Given the description of an element on the screen output the (x, y) to click on. 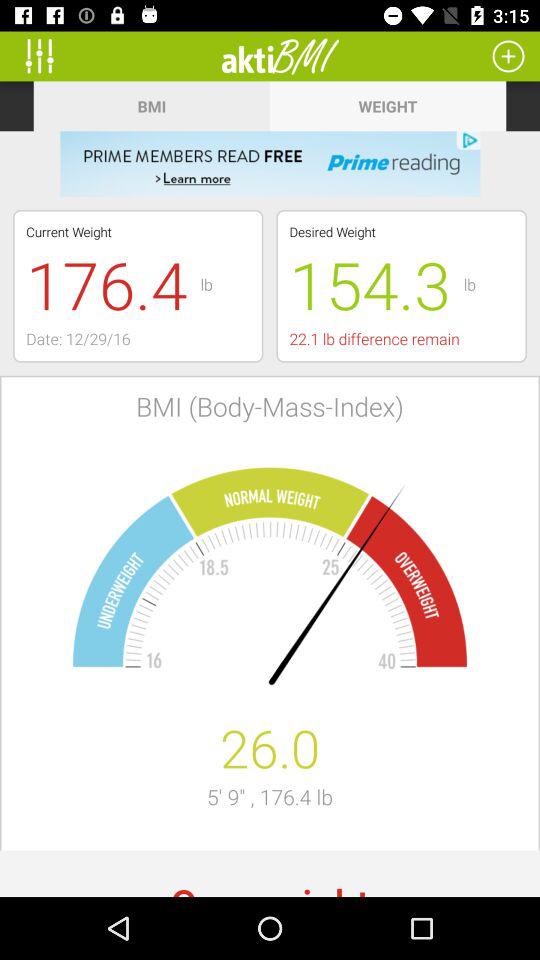
launch icon below bmi (270, 163)
